Given the description of an element on the screen output the (x, y) to click on. 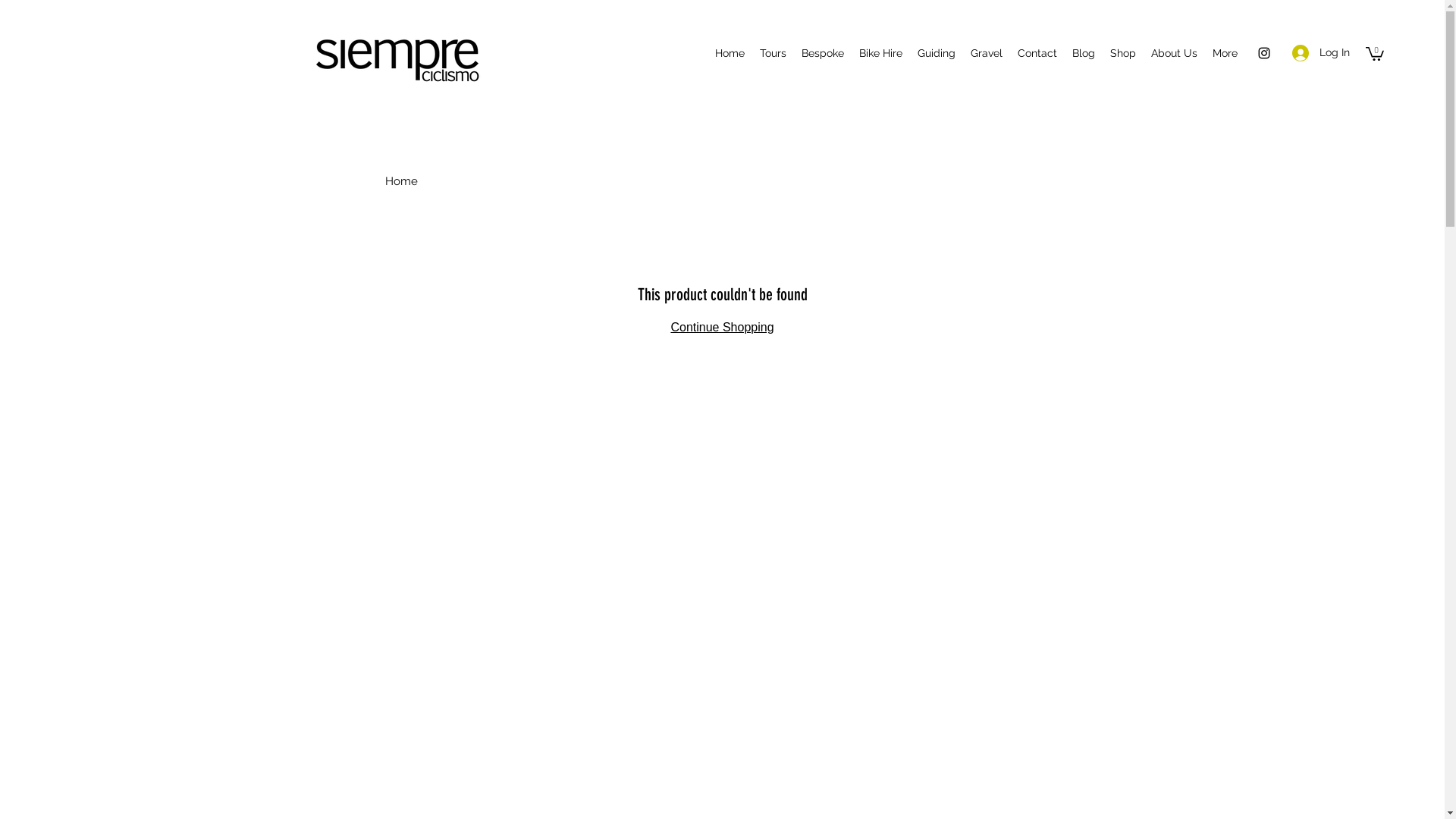
Gravel Element type: text (986, 52)
Home Element type: text (729, 52)
Log In Element type: text (1320, 52)
0 Element type: text (1374, 52)
Home Element type: text (401, 181)
Guiding Element type: text (936, 52)
Shop Element type: text (1122, 52)
Tours Element type: text (772, 52)
About Us Element type: text (1173, 52)
Bespoke Element type: text (822, 52)
Blog Element type: text (1083, 52)
Continue Shopping Element type: text (721, 326)
Contact Element type: text (1037, 52)
Bike Hire Element type: text (880, 52)
